Given the description of an element on the screen output the (x, y) to click on. 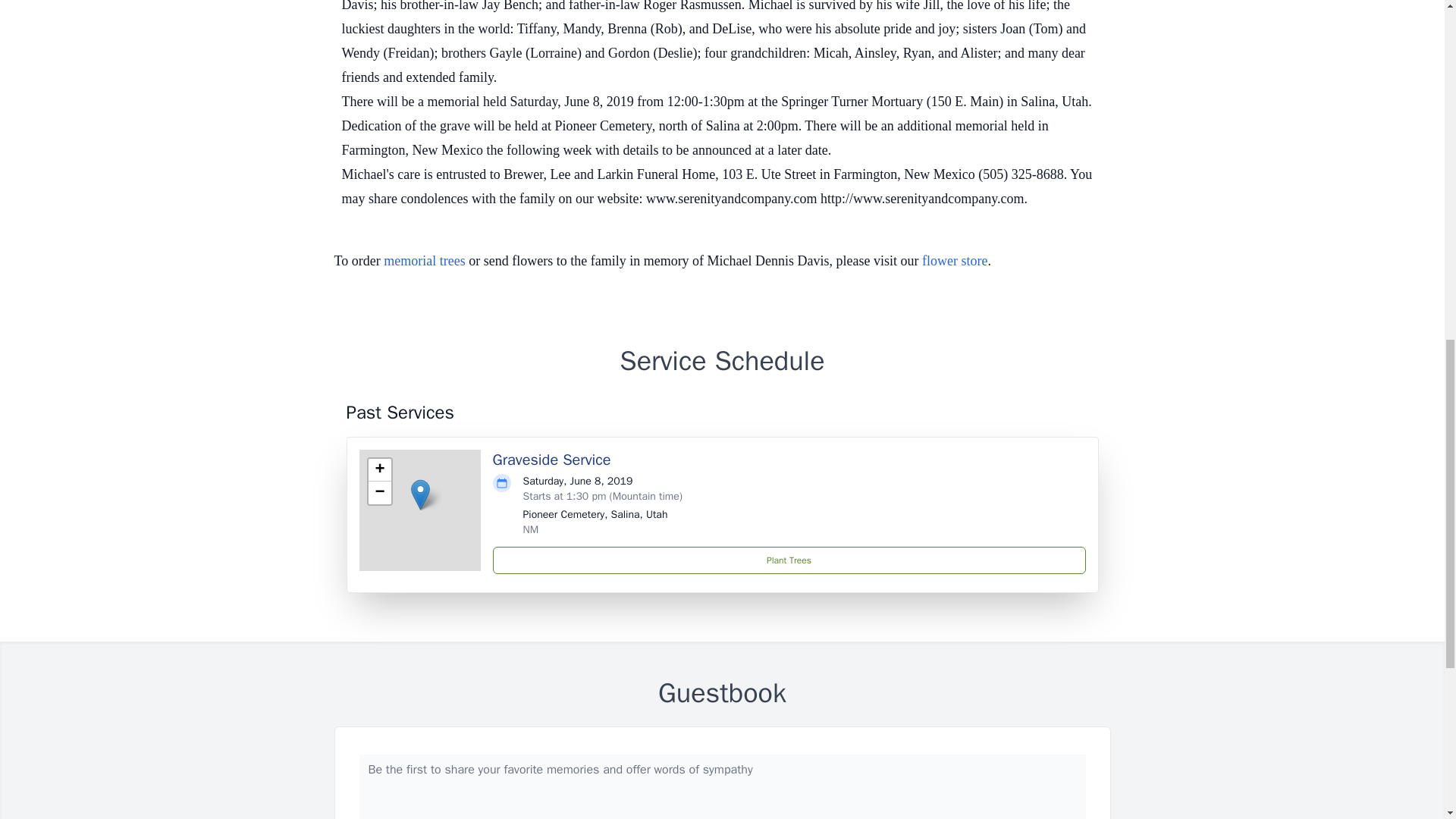
Plant Trees (789, 560)
flower store (954, 260)
Zoom in (379, 469)
NM (530, 529)
memorial trees (424, 260)
Zoom out (379, 492)
